Given the description of an element on the screen output the (x, y) to click on. 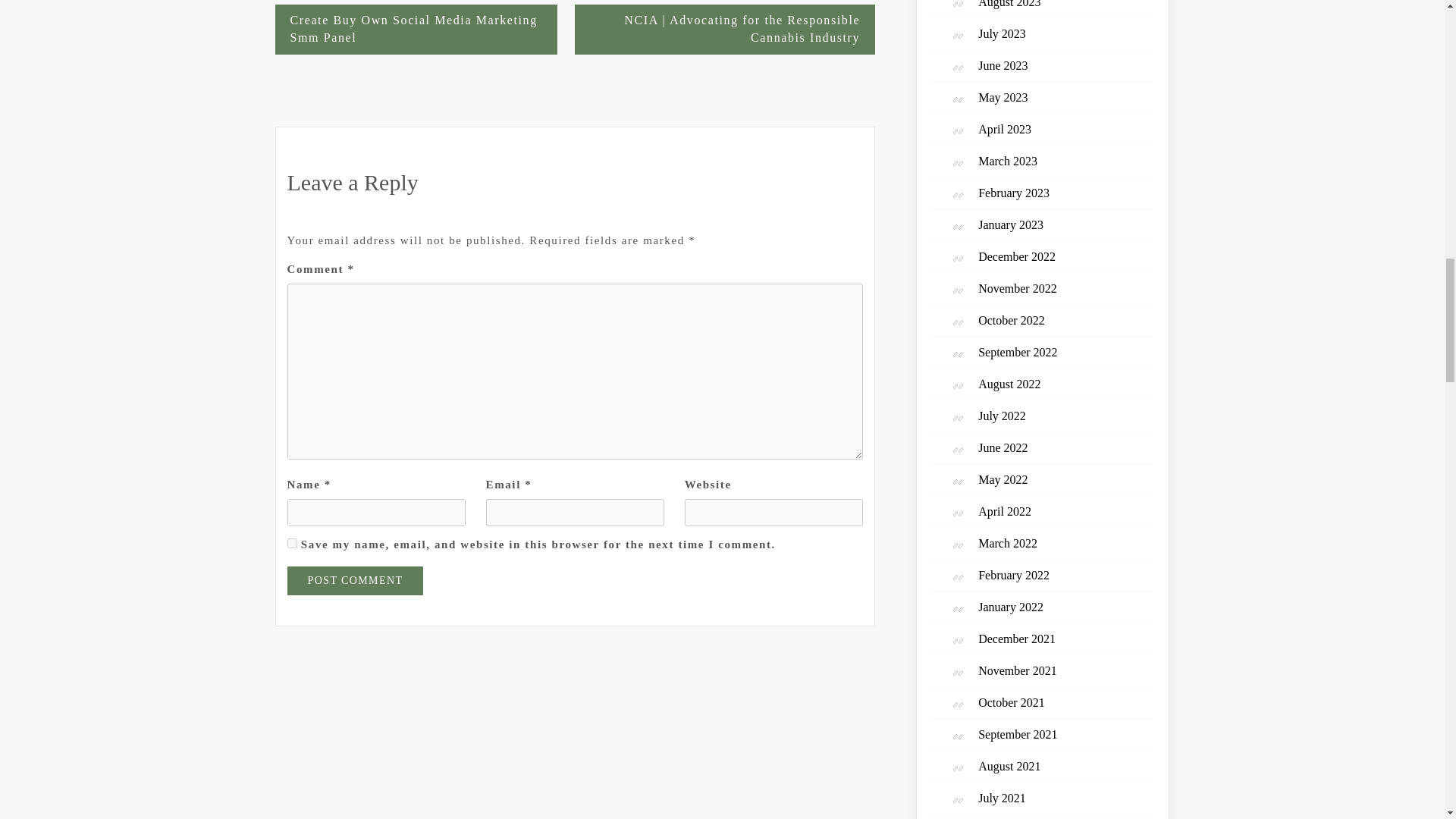
yes (291, 542)
Post Comment (354, 580)
Post Comment (354, 580)
Create Buy Own Social Media Marketing Smm Panel (415, 29)
